Given the description of an element on the screen output the (x, y) to click on. 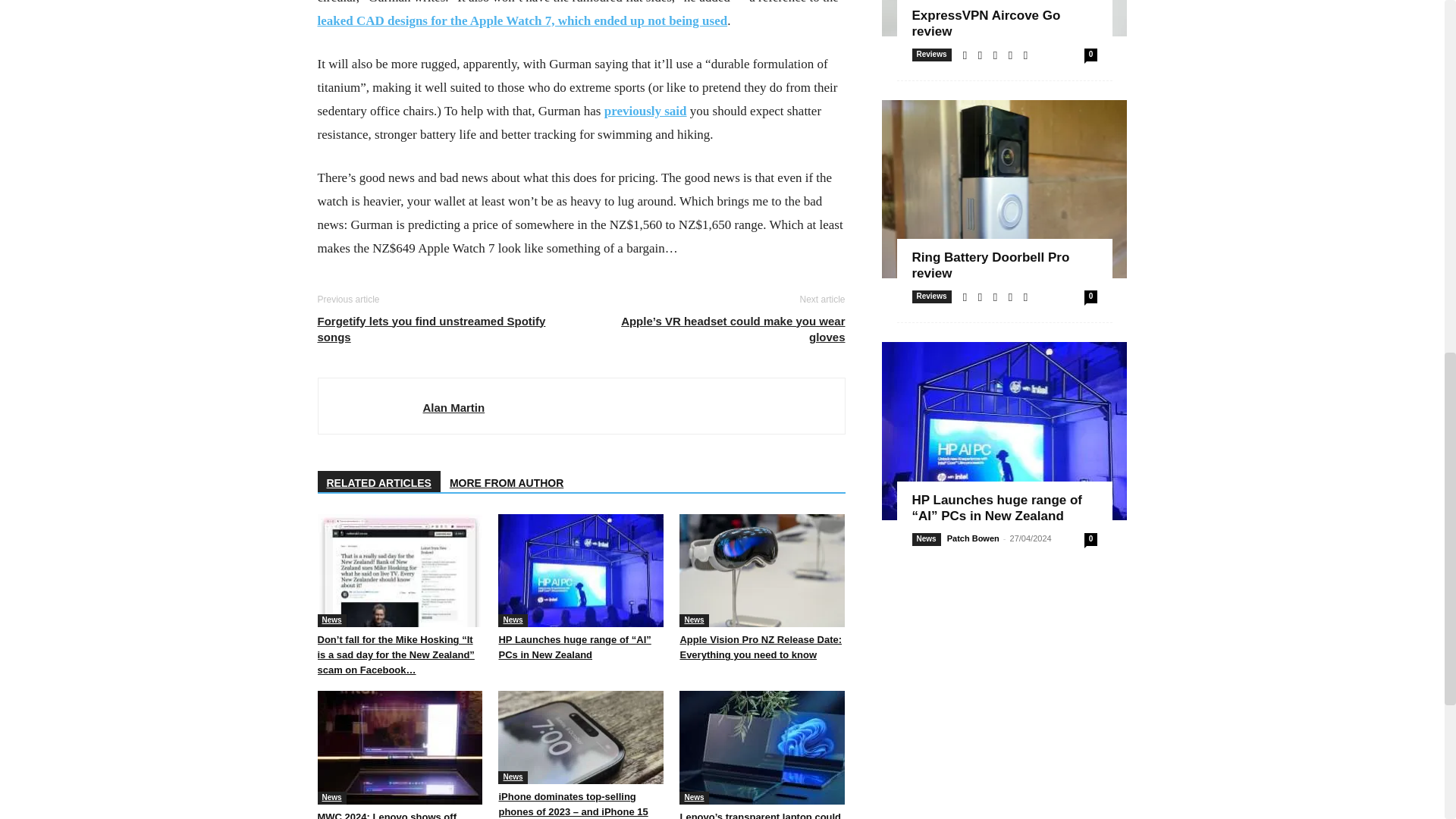
previously said (645, 110)
Alan Martin (453, 406)
RELATED ARTICLES (378, 480)
MORE FROM AUTHOR (506, 480)
Forgetify lets you find unstreamed Spotify songs (439, 327)
